Given the description of an element on the screen output the (x, y) to click on. 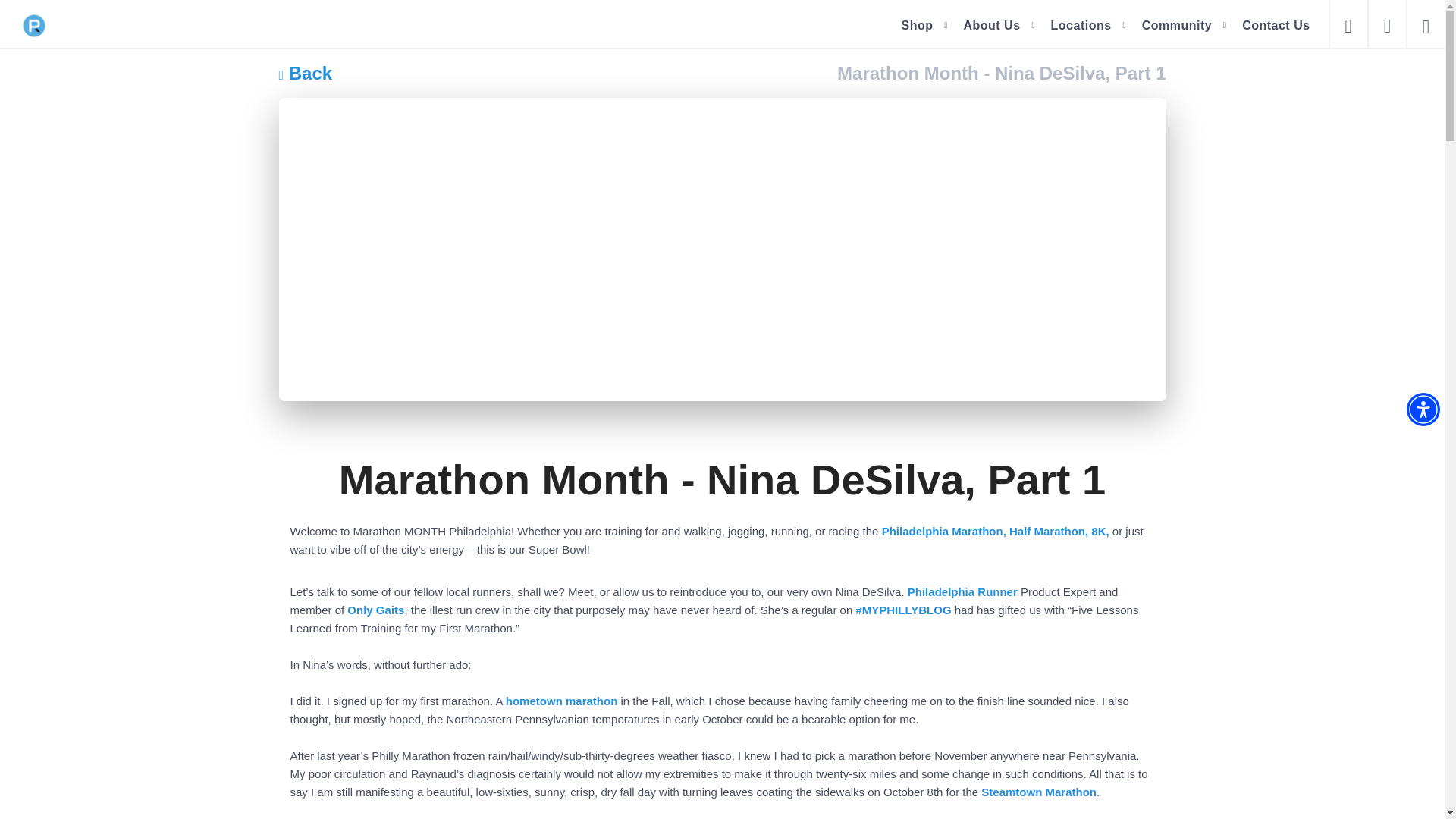
Contact Us (1274, 24)
Locations (1081, 24)
About Us (991, 24)
Only Gaits (375, 609)
Steamtown Marathon (1038, 791)
Philadelphia Runner (962, 591)
Back (306, 73)
Philadelphia Marathon, Half Marathon, 8K, (995, 530)
Accessibility Menu (1422, 409)
Community (1176, 24)
hometown marathon (561, 700)
